Given the description of an element on the screen output the (x, y) to click on. 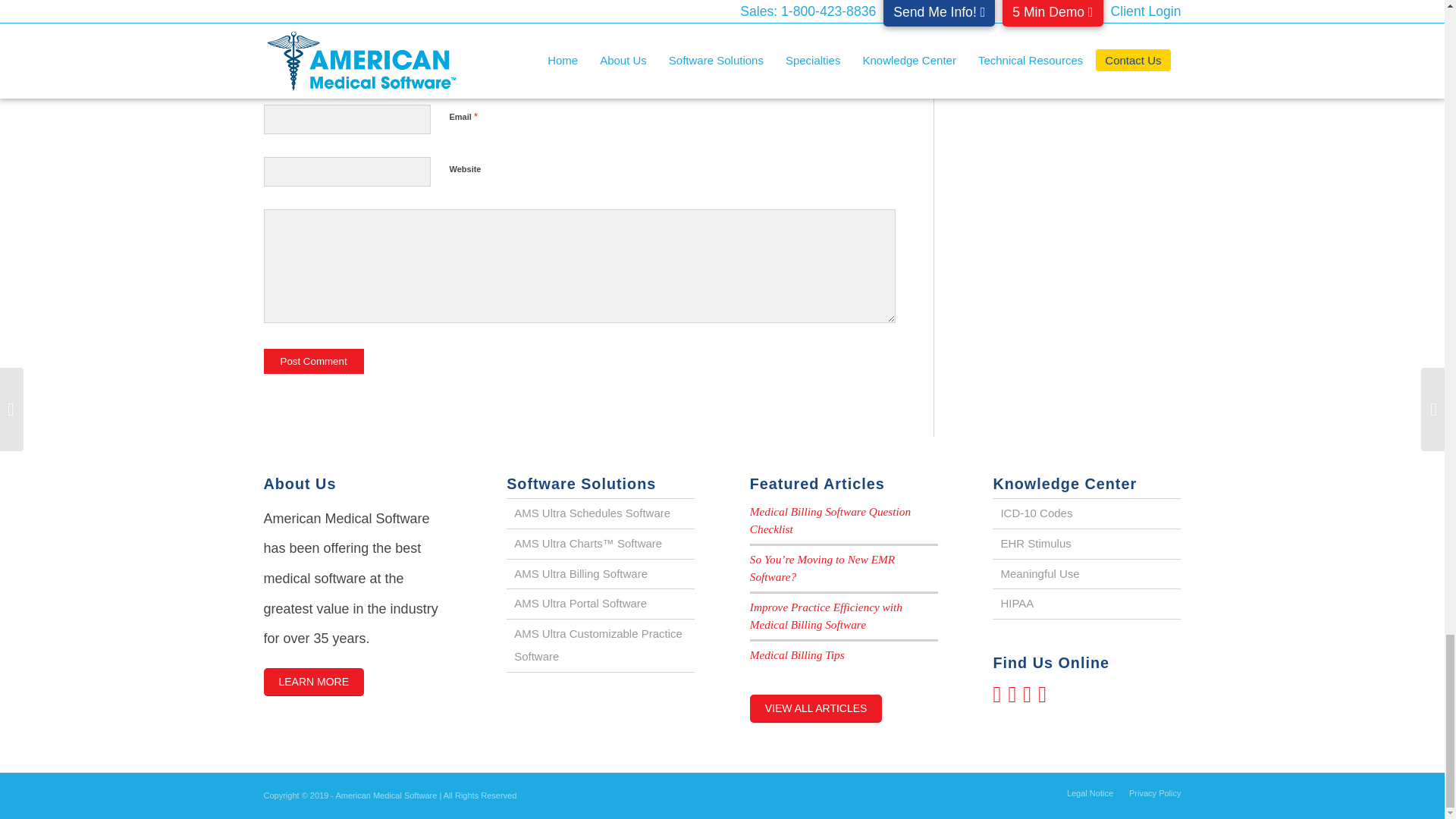
Post Comment (313, 360)
